Given the description of an element on the screen output the (x, y) to click on. 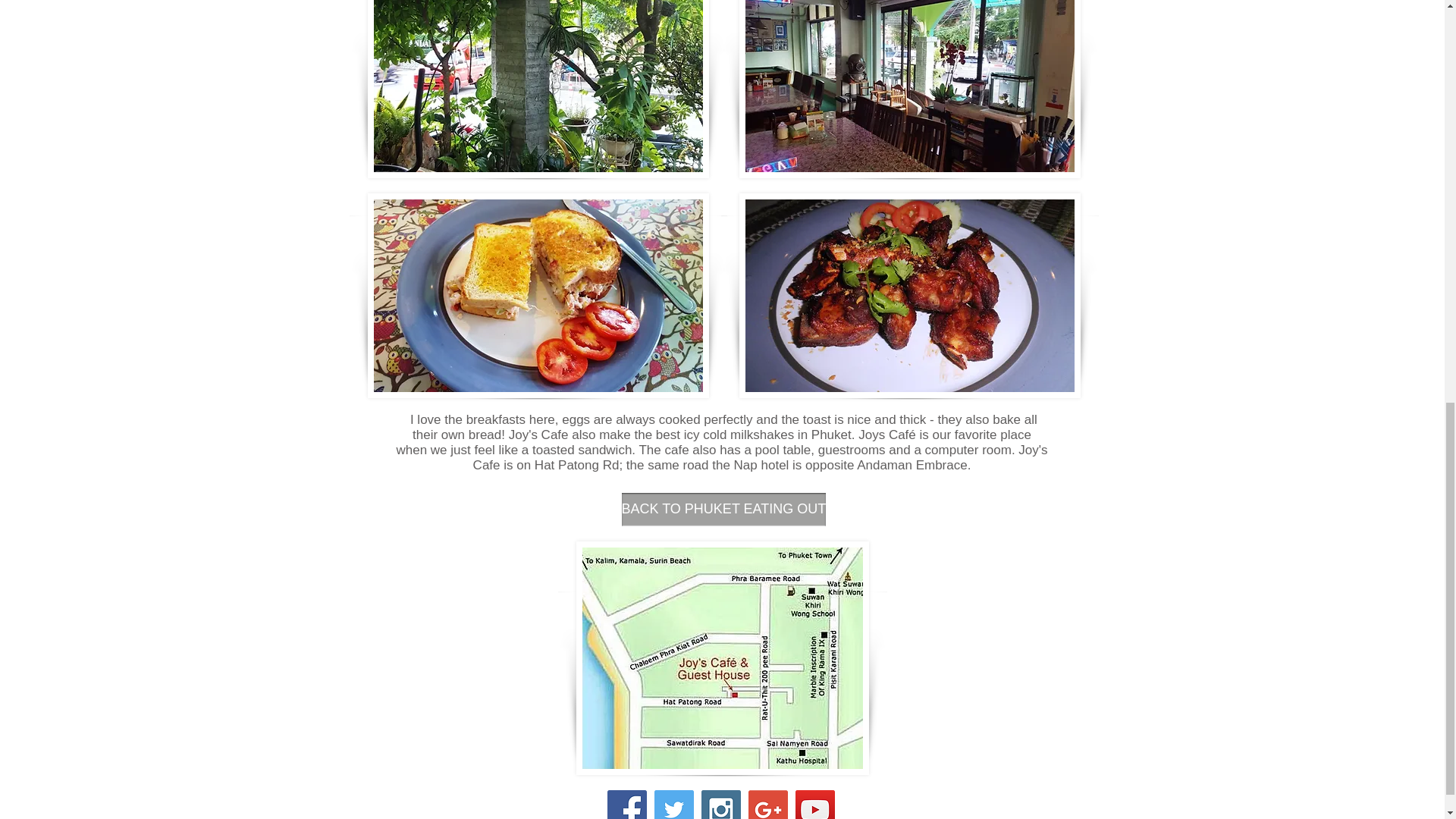
Joy's Cafe (909, 295)
Joy's Cafe - Location Map (722, 657)
BACK TO PHUKET EATING OUT (724, 509)
Joy's Cafe (536, 89)
Joy's Cafe - Patong Beach (909, 89)
Joy's Cafe - My Favorite Tuna Sandwich (536, 295)
